Given the description of an element on the screen output the (x, y) to click on. 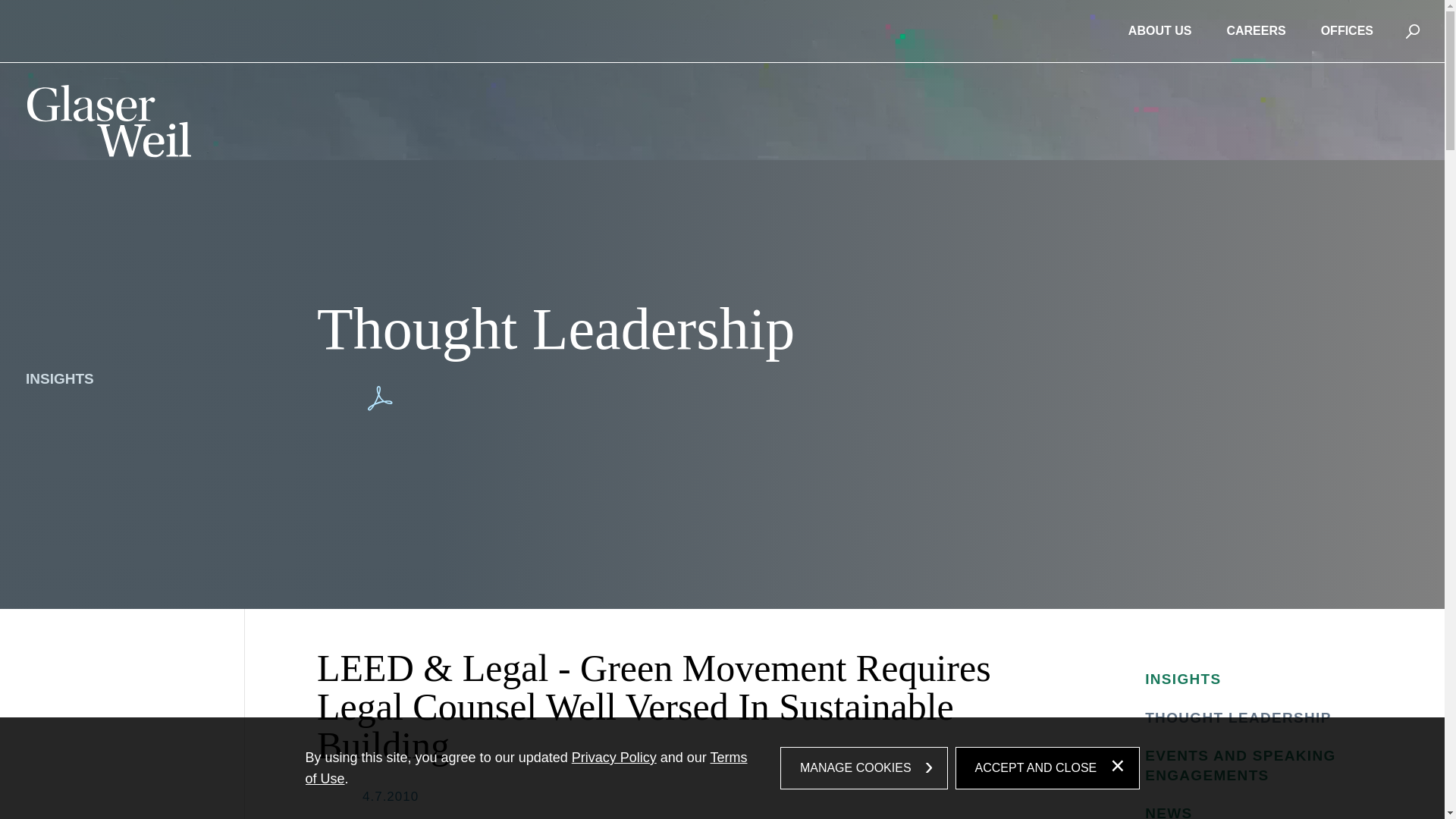
Menu (671, 20)
Print PDF (379, 398)
INSIGHTS (1251, 679)
Glaser Weil (108, 125)
ABOUT US (1159, 31)
Main Content (663, 20)
OUR TEAM (110, 274)
RESULTS (110, 420)
OFFICES (1346, 31)
EVENTS AND SPEAKING ENGAGEMENTS (1251, 765)
INSIGHTS (110, 378)
Main Menu (671, 20)
Search (1413, 31)
THOUGHT LEADERSHIP (1251, 718)
Glaser Weil (108, 121)
